Given the description of an element on the screen output the (x, y) to click on. 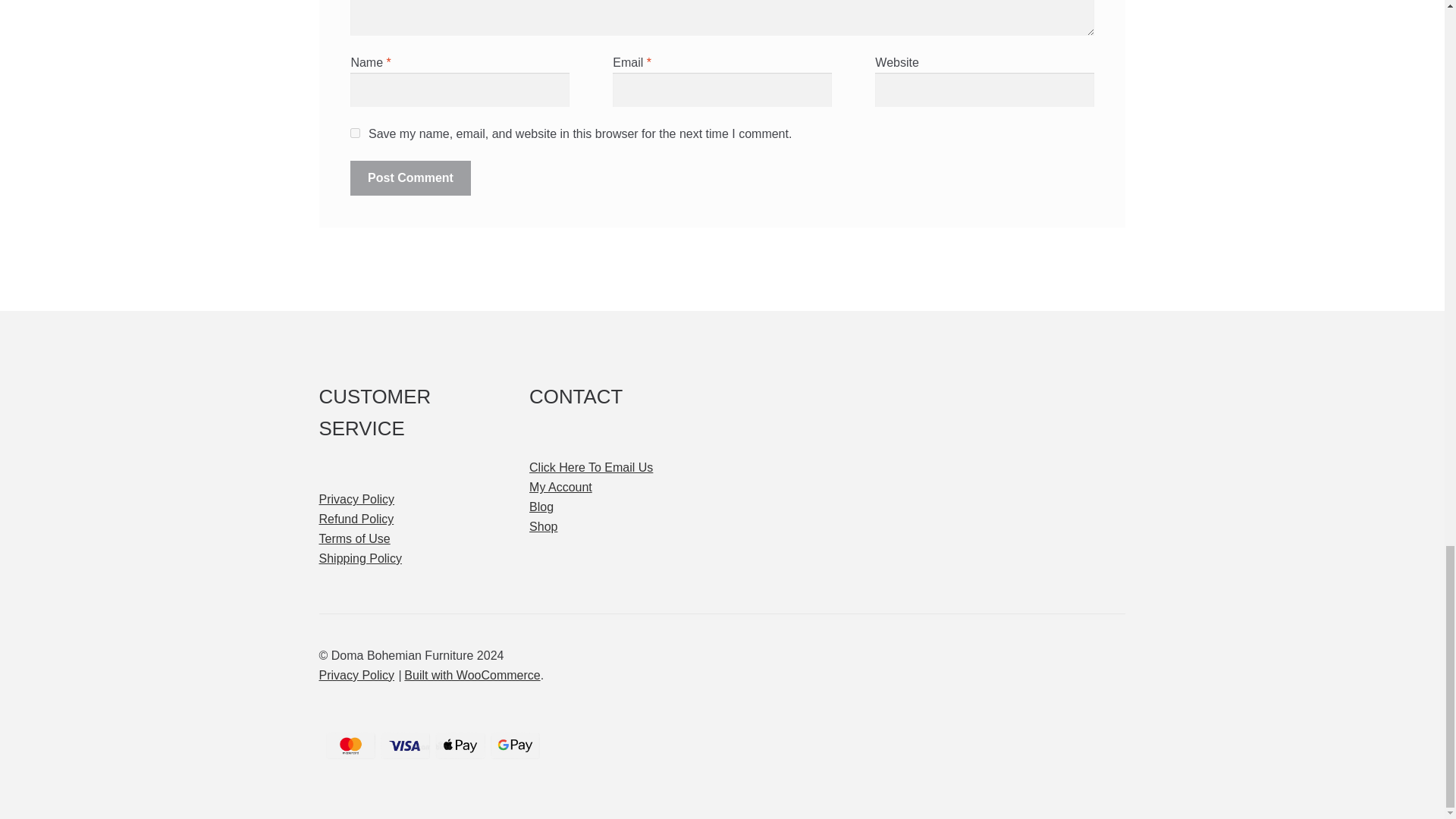
Terms of Use (354, 538)
Blog (541, 506)
My Account (560, 486)
Refund Policy (356, 518)
Shop (543, 526)
WooCommerce - The Best eCommerce Platform for WordPress (472, 675)
Click Here To Email Us (590, 467)
yes (354, 132)
Post Comment (410, 177)
Privacy Policy (356, 499)
Built with WooCommerce (472, 675)
Shipping Policy (359, 558)
Post Comment (410, 177)
Privacy Policy (356, 675)
